Given the description of an element on the screen output the (x, y) to click on. 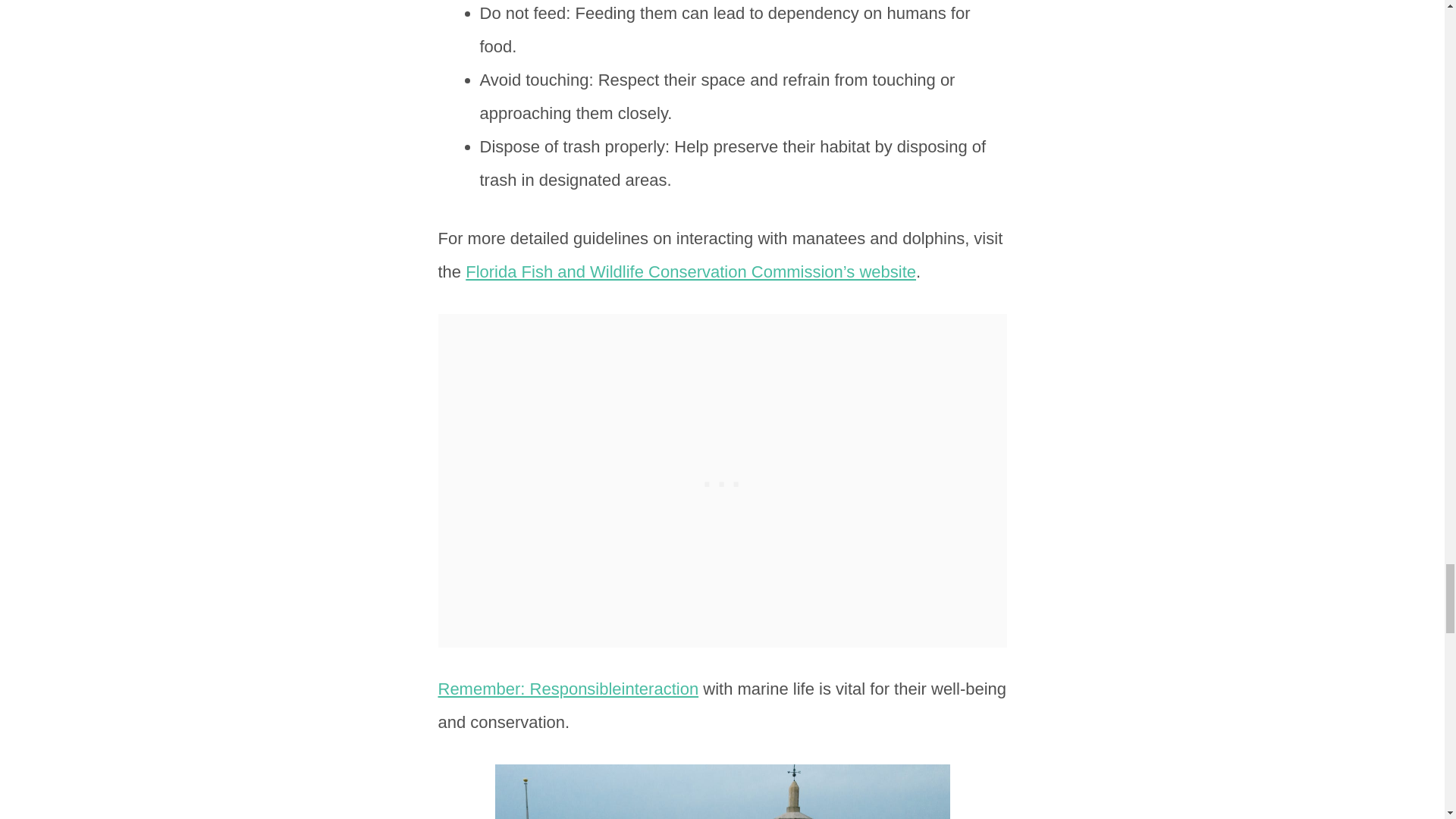
Remember: Responsibleinteraction (568, 688)
